Given the description of an element on the screen output the (x, y) to click on. 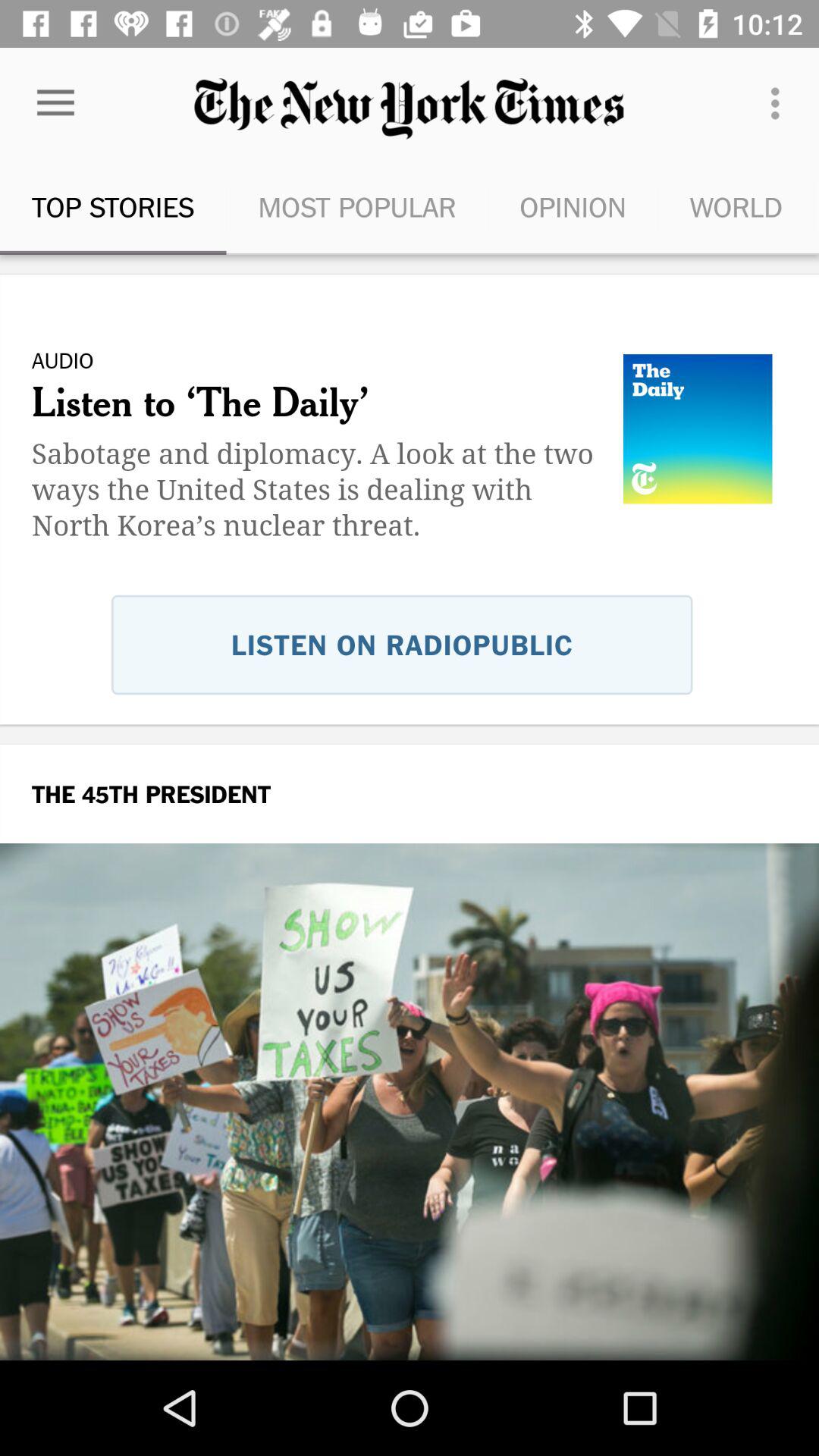
listen to the daily (409, 535)
